Given the description of an element on the screen output the (x, y) to click on. 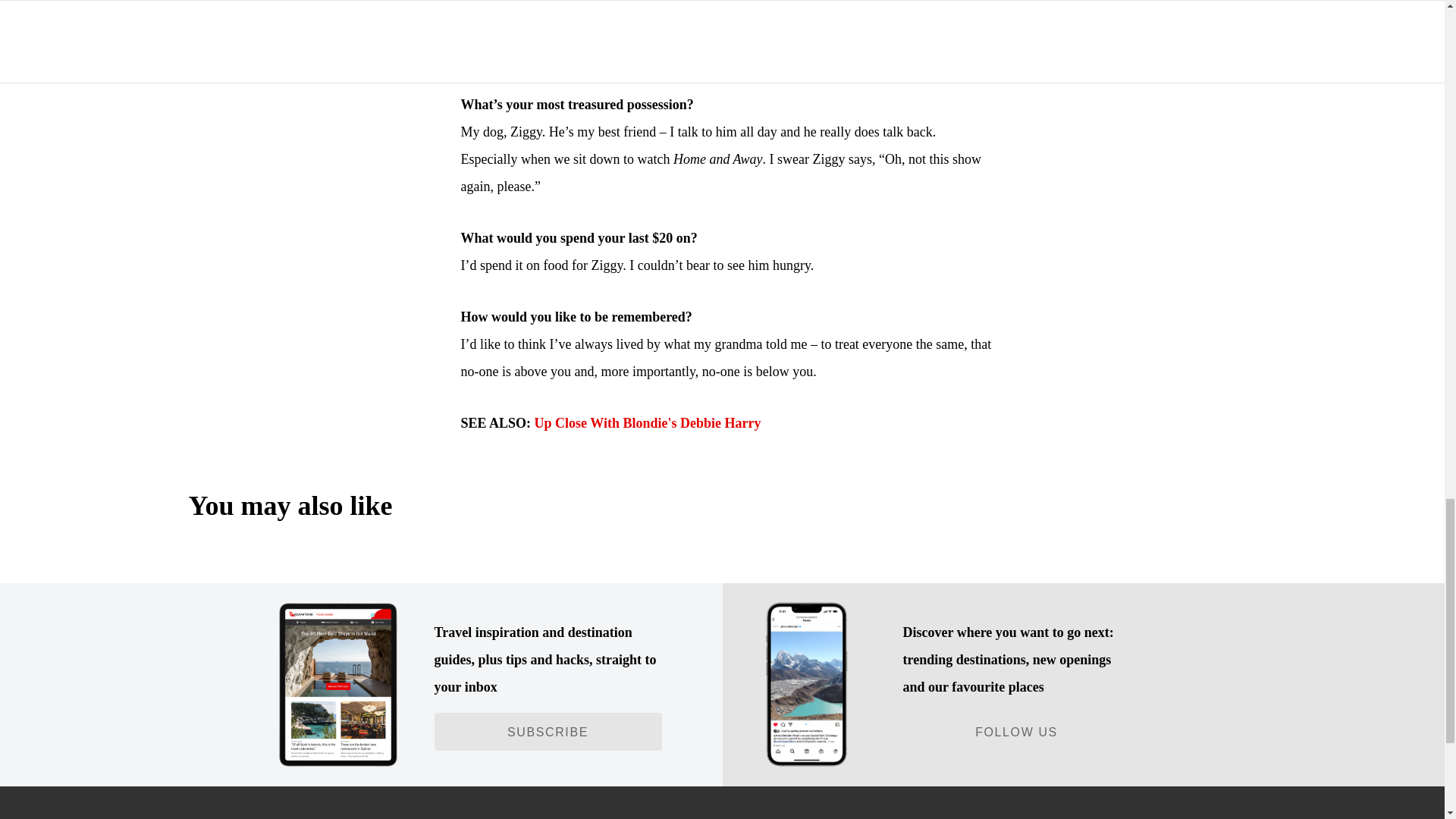
Up Close With Blondie's Debbie Harry (647, 422)
